Given the description of an element on the screen output the (x, y) to click on. 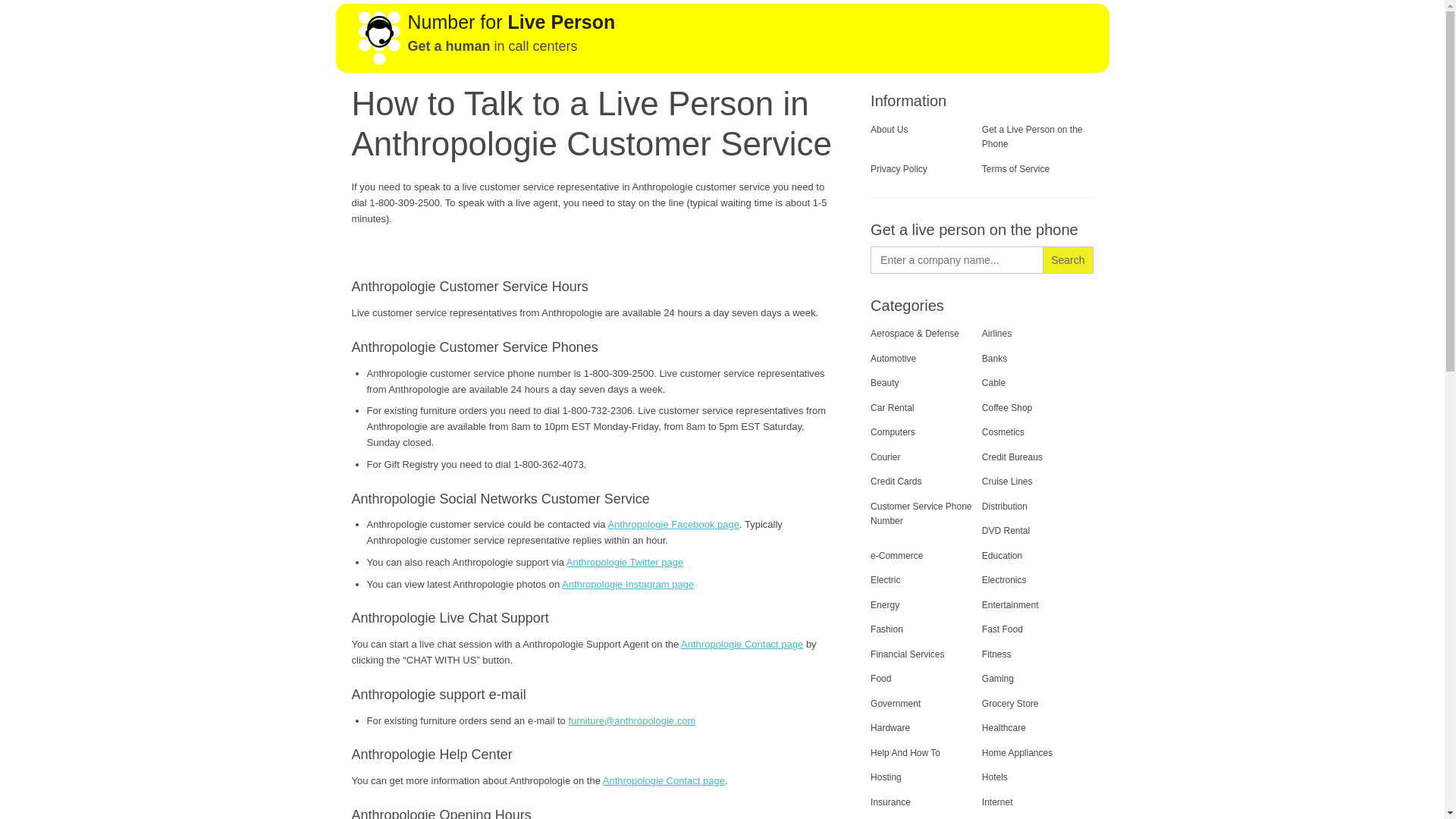
Energy (884, 604)
Anthropologie Facebook page (672, 523)
Anthropologie Contact page (742, 644)
Privacy Policy (898, 168)
Terms of Service (1015, 168)
Distribution (1004, 506)
Education (1001, 555)
Beauty (884, 382)
DVD Rental (1005, 530)
Search (1067, 259)
